Given the description of an element on the screen output the (x, y) to click on. 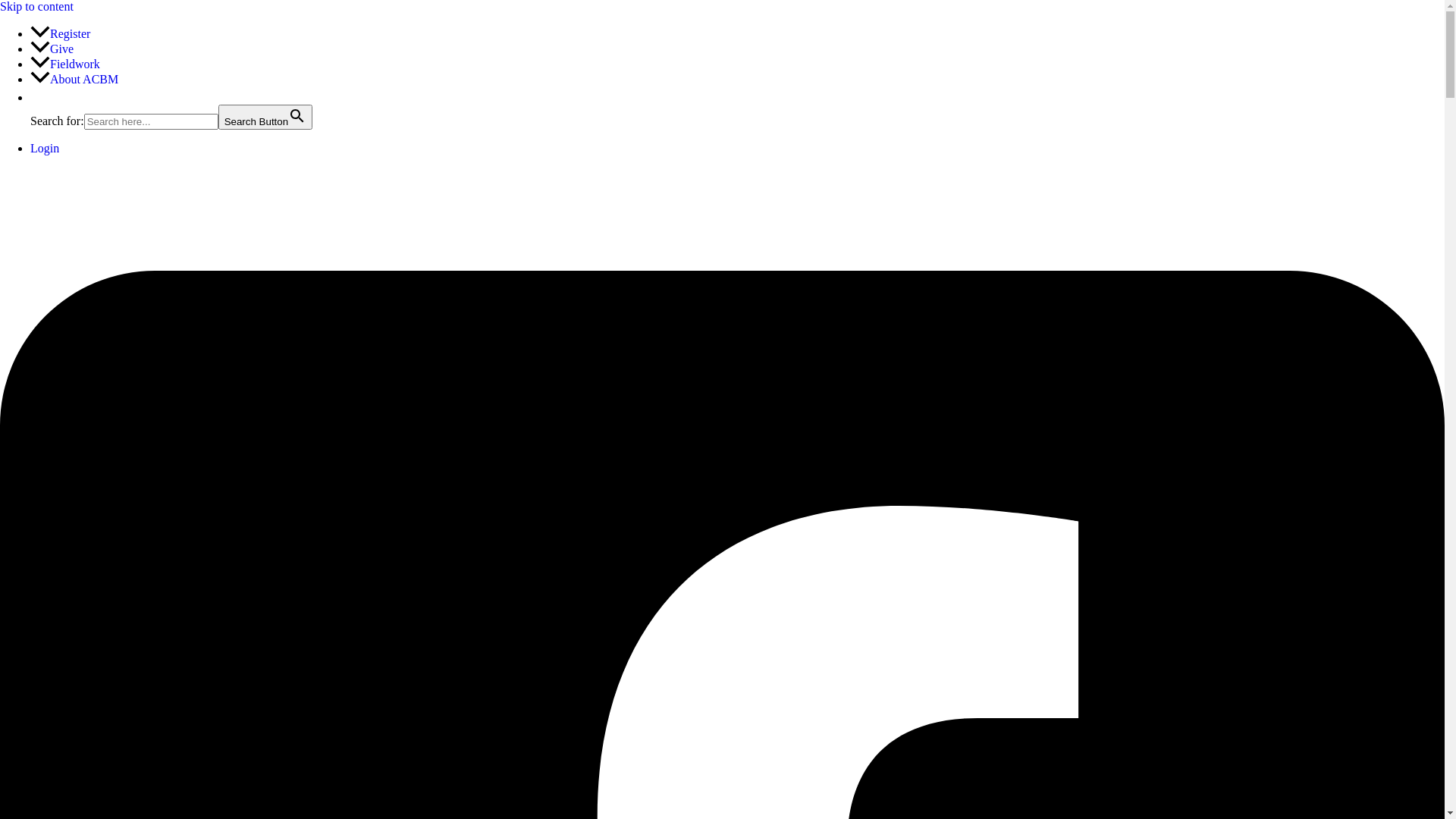
Login Element type: text (44, 147)
Skip to content Element type: text (36, 6)
About ACBM Element type: text (74, 78)
Search Button Element type: text (265, 116)
Register Element type: text (60, 33)
Give Element type: text (51, 48)
Fieldwork Element type: text (65, 63)
